Given the description of an element on the screen output the (x, y) to click on. 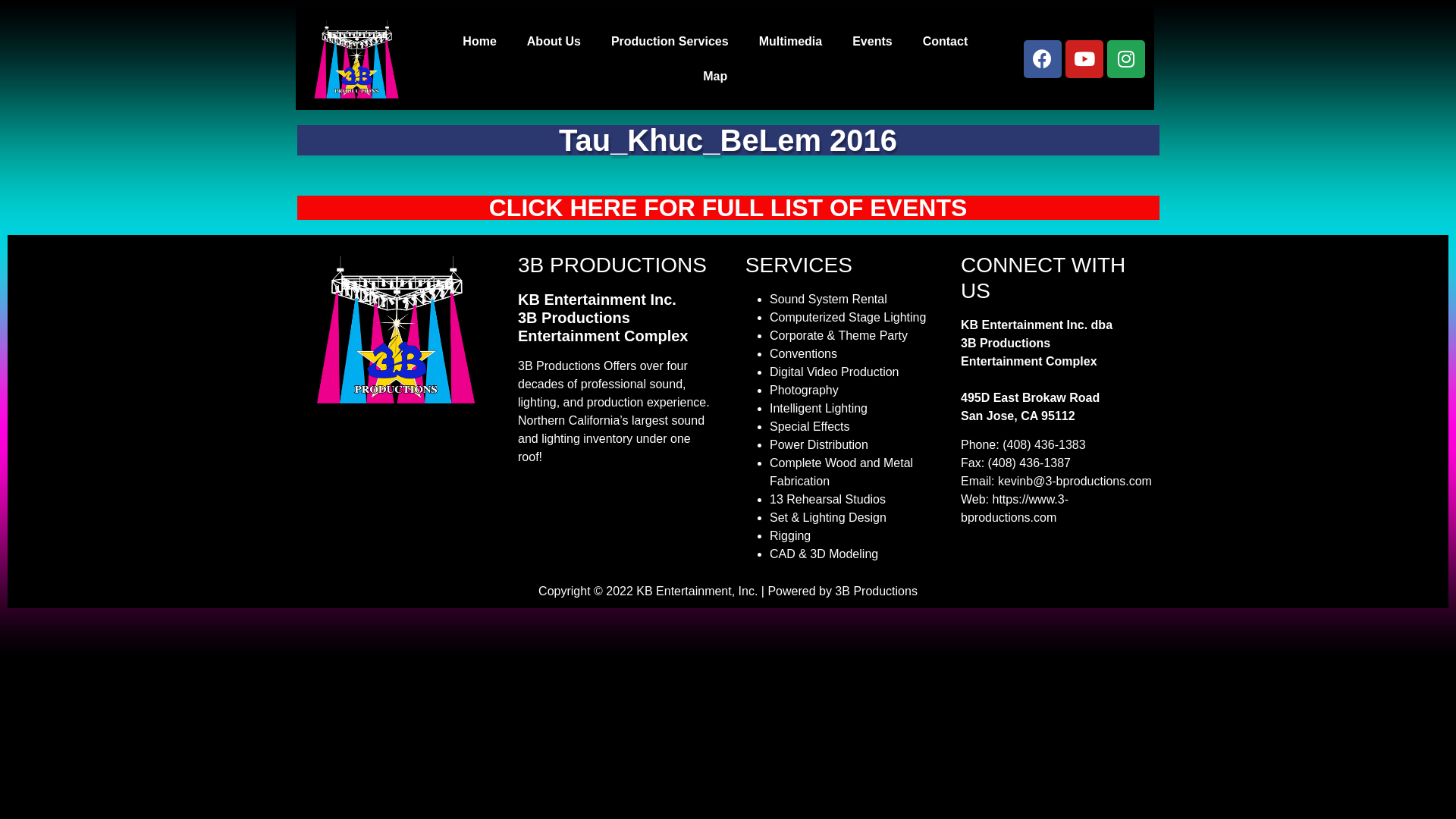
About Us Element type: text (553, 41)
Instagram Element type: hover (1126, 59)
Events Element type: text (871, 41)
Multimedia Element type: text (790, 41)
CLICK HERE FOR FULL LIST OF EVENTS Element type: text (728, 207)
Home Element type: text (479, 41)
Production Services Element type: text (669, 41)
Facebook Element type: hover (1042, 59)
Map Element type: text (714, 76)
YouTube Element type: hover (1084, 59)
Contact Element type: text (945, 41)
